Given the description of an element on the screen output the (x, y) to click on. 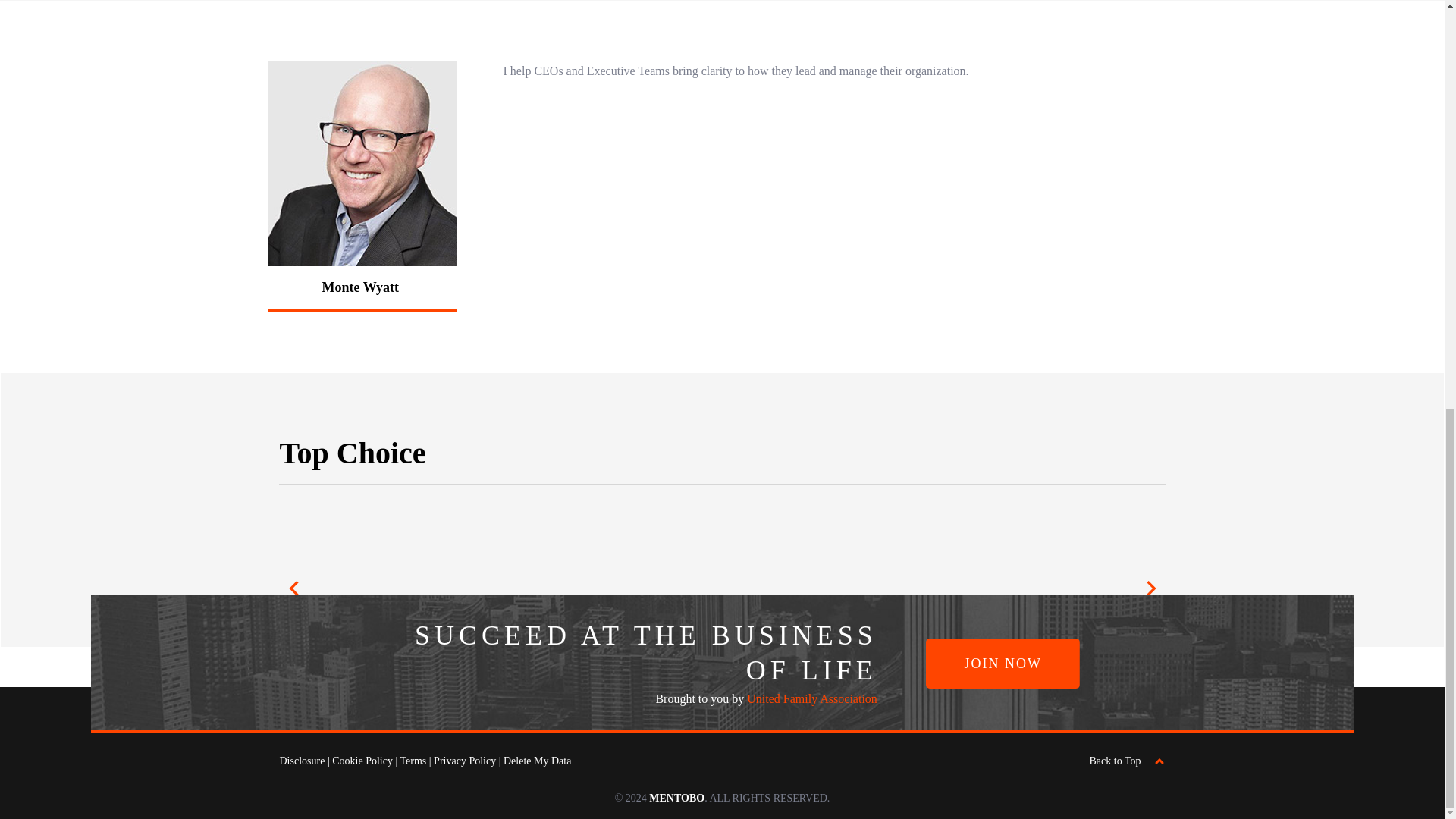
Cookie Policy (362, 760)
Disclosure (301, 760)
Back to Top (1127, 761)
Terms (413, 760)
Back to Top (1127, 761)
JOIN NOW (1002, 663)
Privacy Policy (464, 760)
Delete My Data (536, 760)
